Given the description of an element on the screen output the (x, y) to click on. 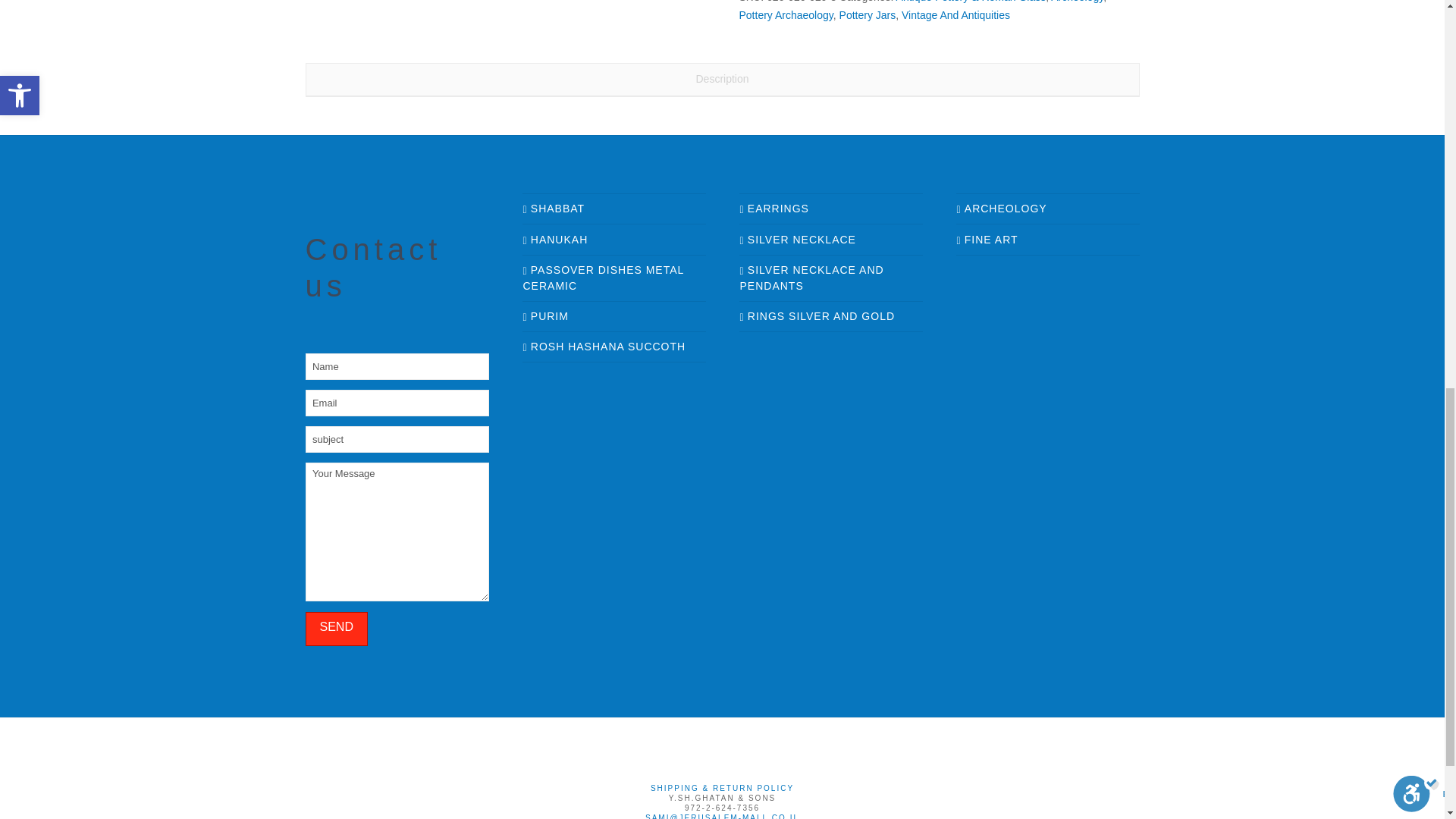
Send (335, 628)
subject (395, 438)
Email (395, 402)
Name (395, 365)
